Given the description of an element on the screen output the (x, y) to click on. 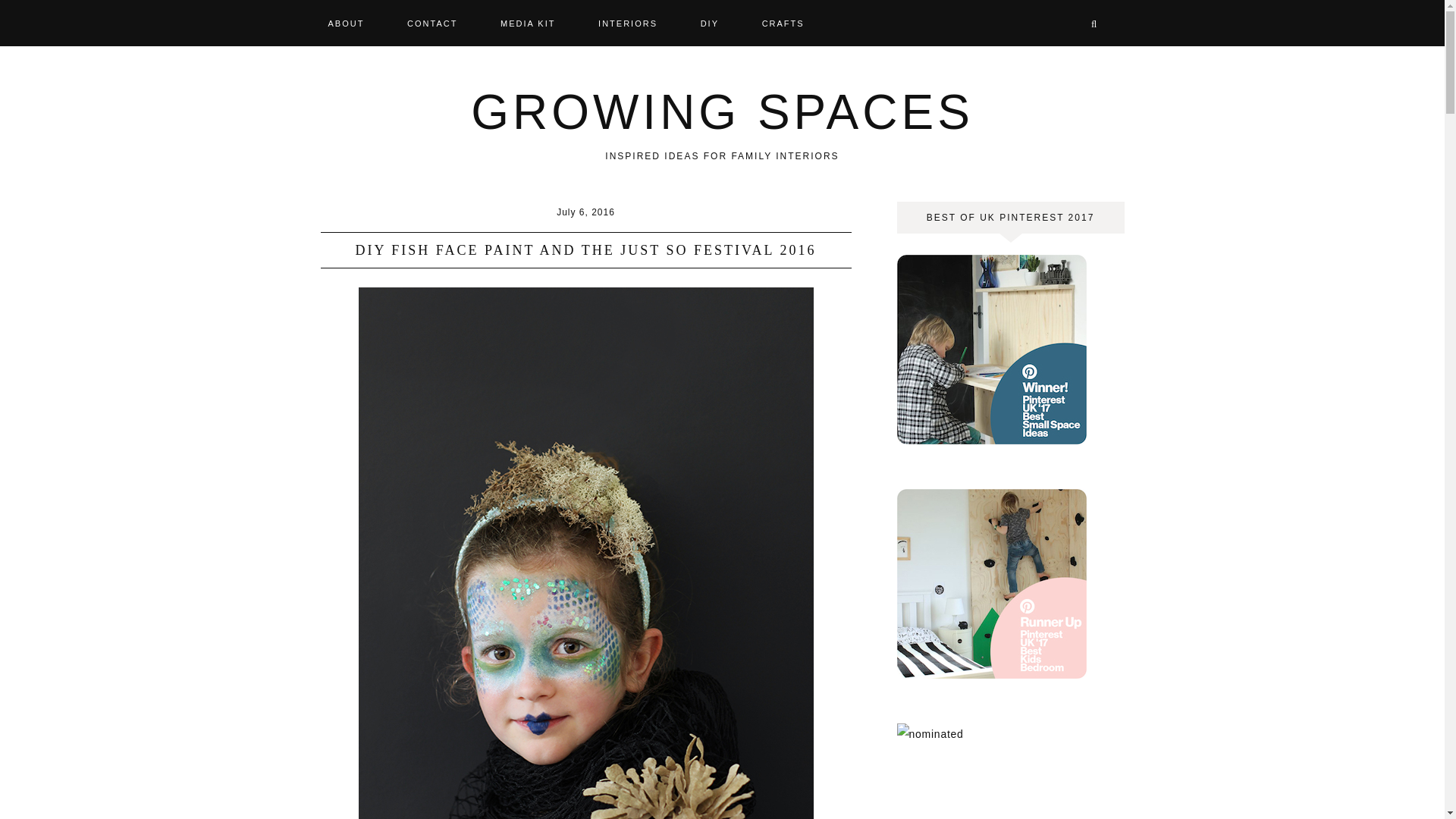
ABOUT (355, 22)
MEDIA KIT (527, 22)
Best of UK Pinterest 2017 (991, 440)
CONTACT (432, 22)
GROWING SPACES (722, 112)
INTERIORS (627, 22)
DIY (709, 22)
CRAFTS (783, 22)
